Given the description of an element on the screen output the (x, y) to click on. 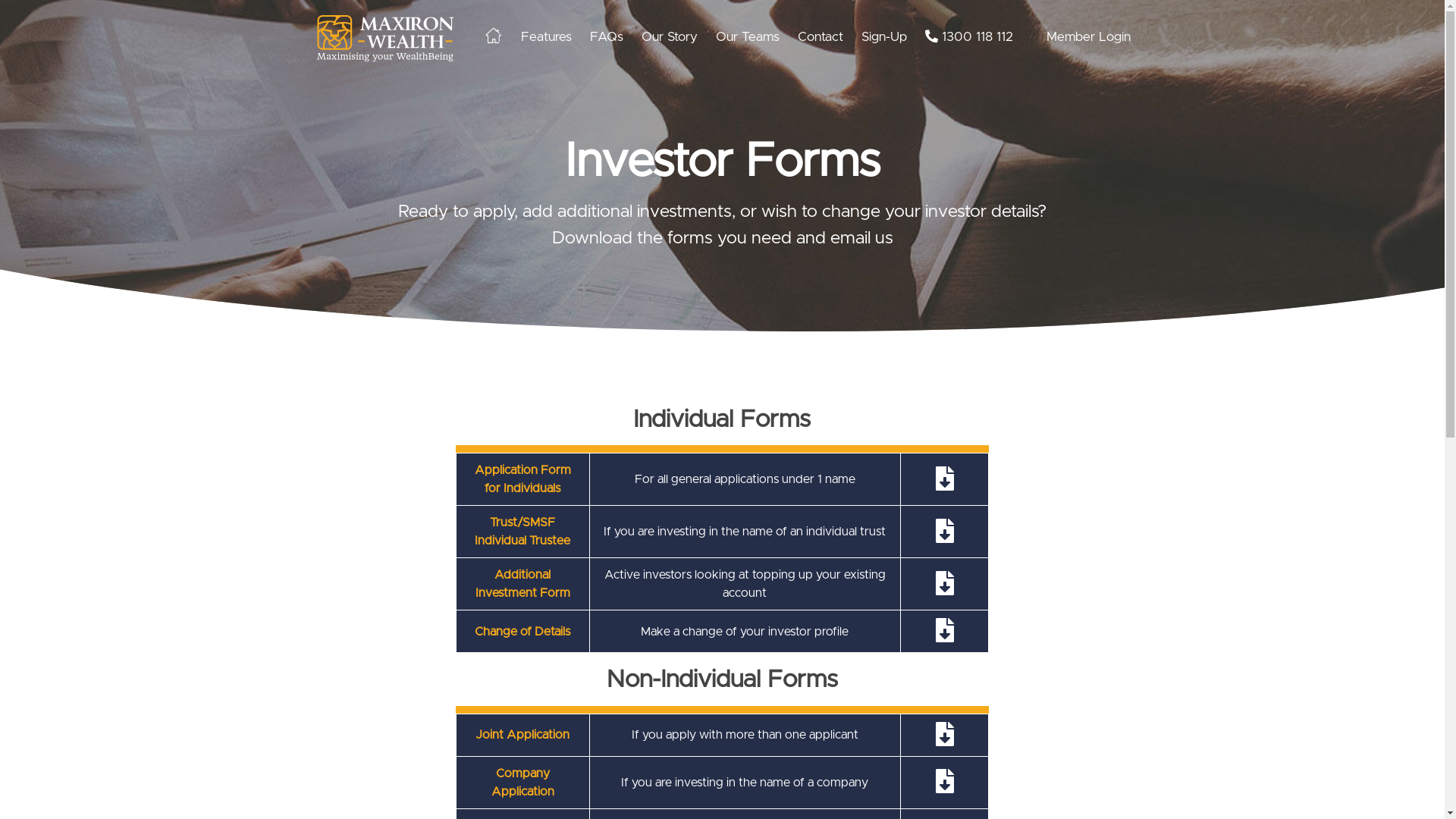
Our Teams Element type: text (747, 36)
Sign-Up Element type: text (884, 36)
Member Login Element type: text (1088, 36)
 1300 118 112 Element type: text (969, 36)
Features Element type: text (545, 36)
Our Story Element type: text (669, 36)
FAQs Element type: text (606, 36)
Contact Element type: text (820, 36)
